Given the description of an element on the screen output the (x, y) to click on. 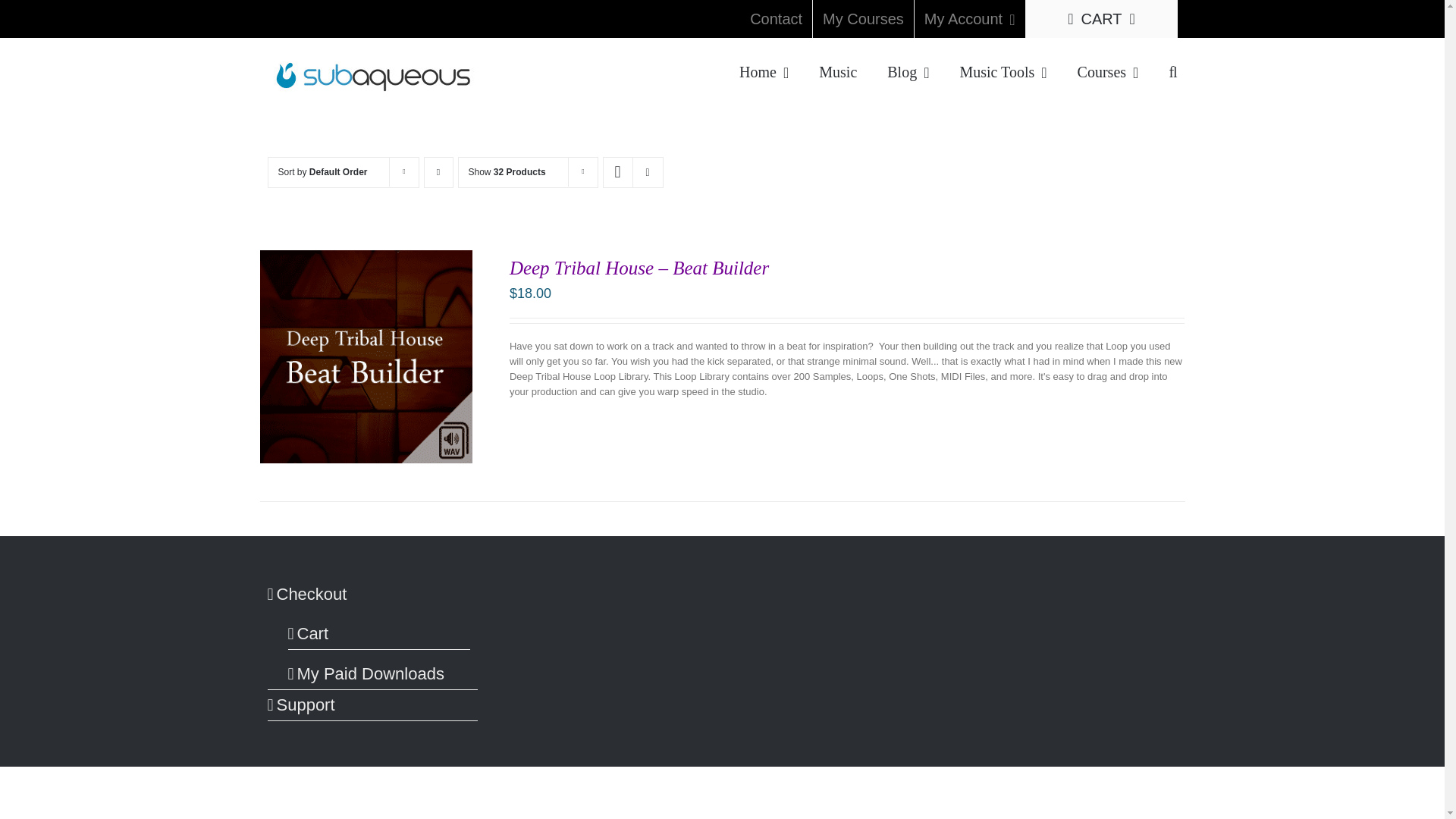
My Courses (863, 18)
Courses (1107, 70)
Log In (1016, 162)
Contact (775, 18)
Music Tools (1002, 70)
My Account (969, 18)
CART (1100, 18)
